Given the description of an element on the screen output the (x, y) to click on. 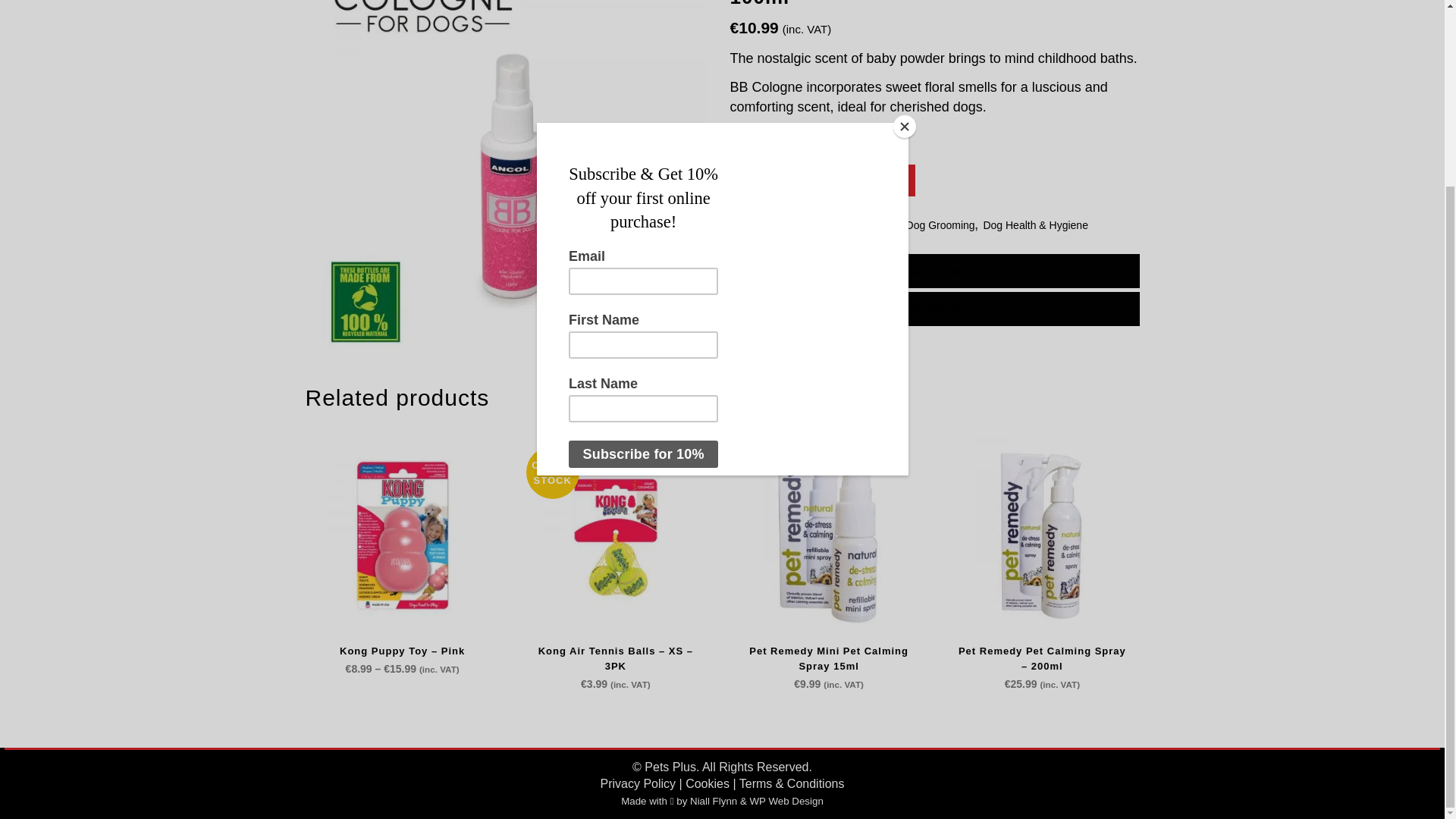
Qty (758, 181)
- (736, 182)
1 (758, 181)
